Given the description of an element on the screen output the (x, y) to click on. 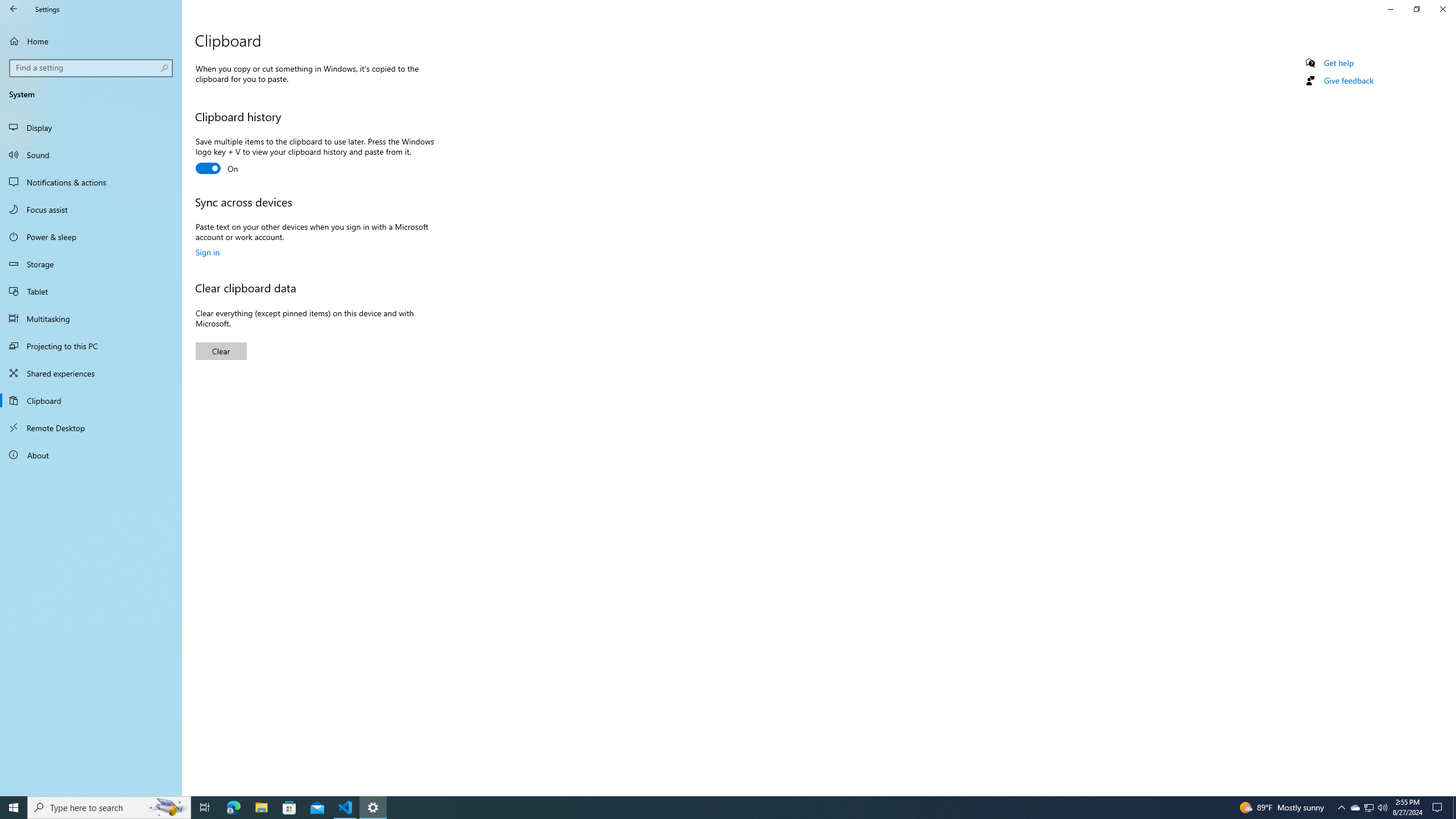
Projecting to this PC (91, 345)
Multitasking (1368, 807)
Display (91, 318)
Get help (91, 126)
Restore Settings (1338, 62)
Sign in (1416, 9)
Visual Studio Code - 1 running window (207, 251)
Notifications & actions (345, 807)
Clipboard (91, 181)
Search box, Find a setting (91, 400)
User Promoted Notification Area (91, 67)
Focus assist (1368, 807)
Show desktop (91, 208)
Minimize Settings (1454, 807)
